Given the description of an element on the screen output the (x, y) to click on. 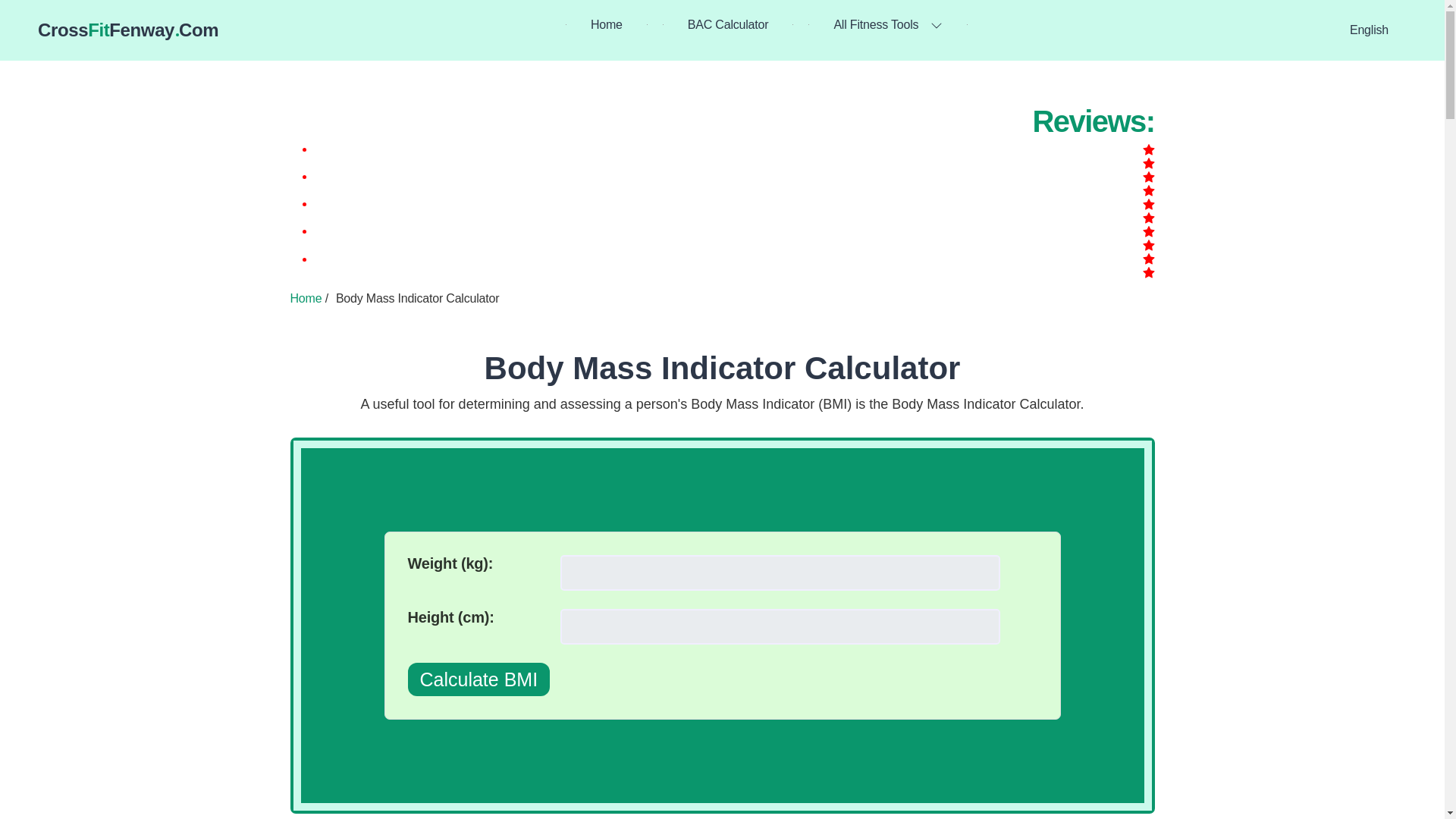
Calculate BMI (127, 30)
Body Mass Indicator Calculator (478, 679)
Home (722, 367)
how to sign pdf on mac (305, 297)
BAC Calculator (607, 24)
how to send pdf to email (727, 24)
